Given the description of an element on the screen output the (x, y) to click on. 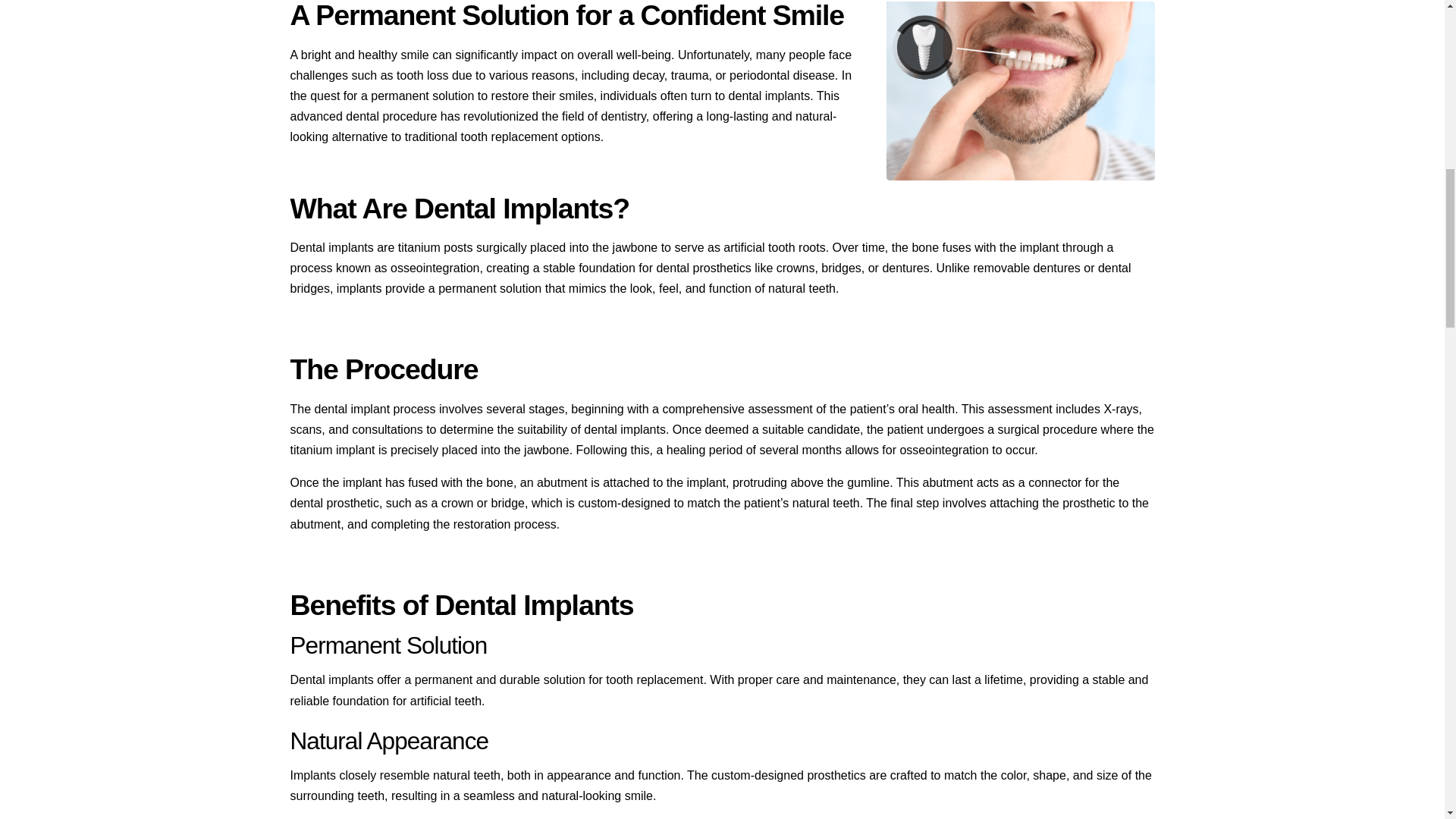
Understanding Dental Implants-1 (1020, 90)
